Given the description of an element on the screen output the (x, y) to click on. 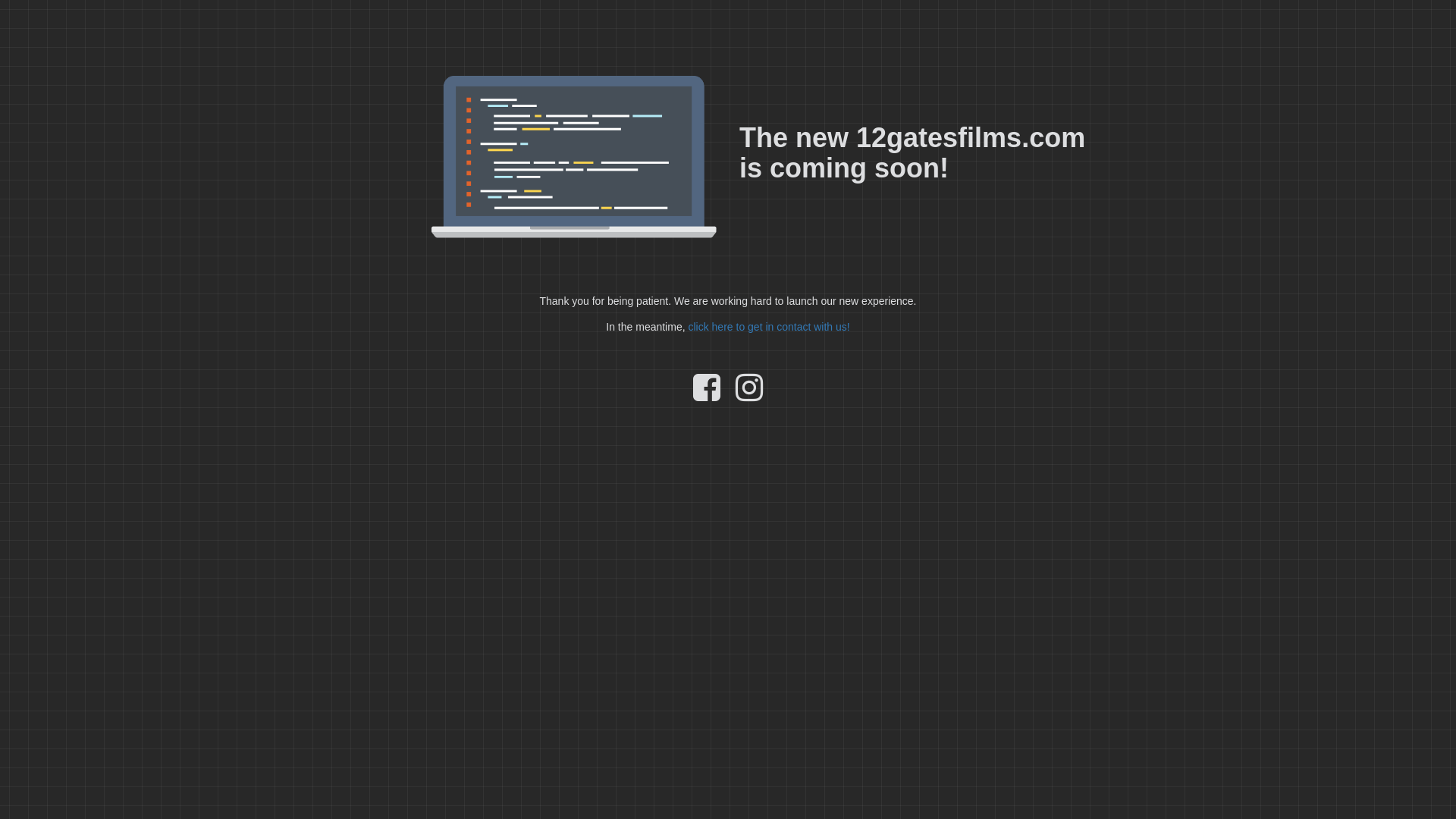
Our minions are coding away as we speak Element type: hover (573, 156)
Instagram Element type: hover (749, 395)
click here to get in contact with us! Element type: text (768, 326)
Facebook Element type: hover (706, 395)
